Given the description of an element on the screen output the (x, y) to click on. 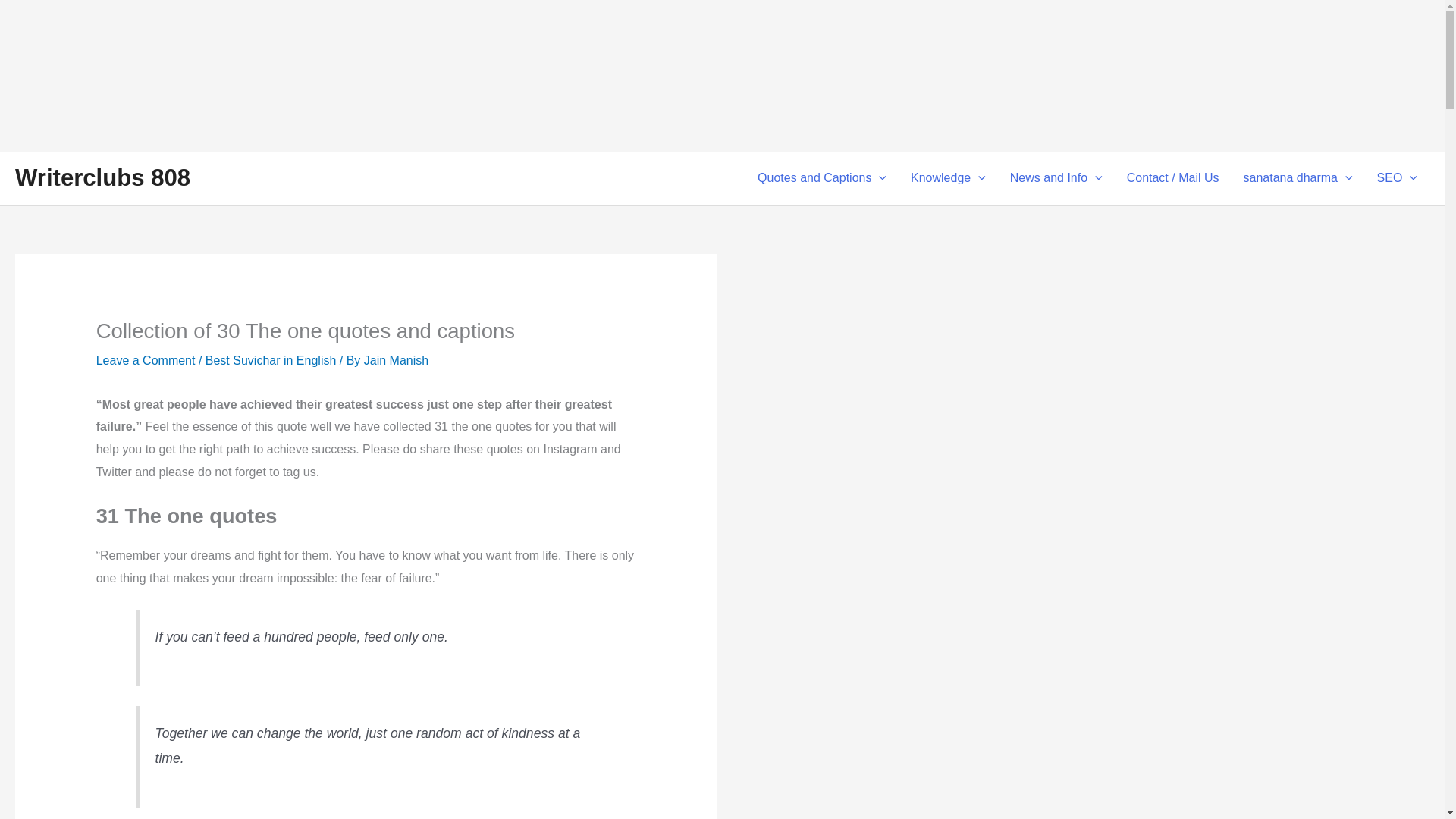
Jain Manish (396, 359)
View all posts by Jain Manish (396, 359)
Knowledge (947, 177)
SEO (1397, 177)
Leave a Comment (145, 359)
Writerclubs 808 (102, 177)
Best Suvichar in English (270, 359)
Quotes and Captions (821, 177)
News and Info (1056, 177)
